Given the description of an element on the screen output the (x, y) to click on. 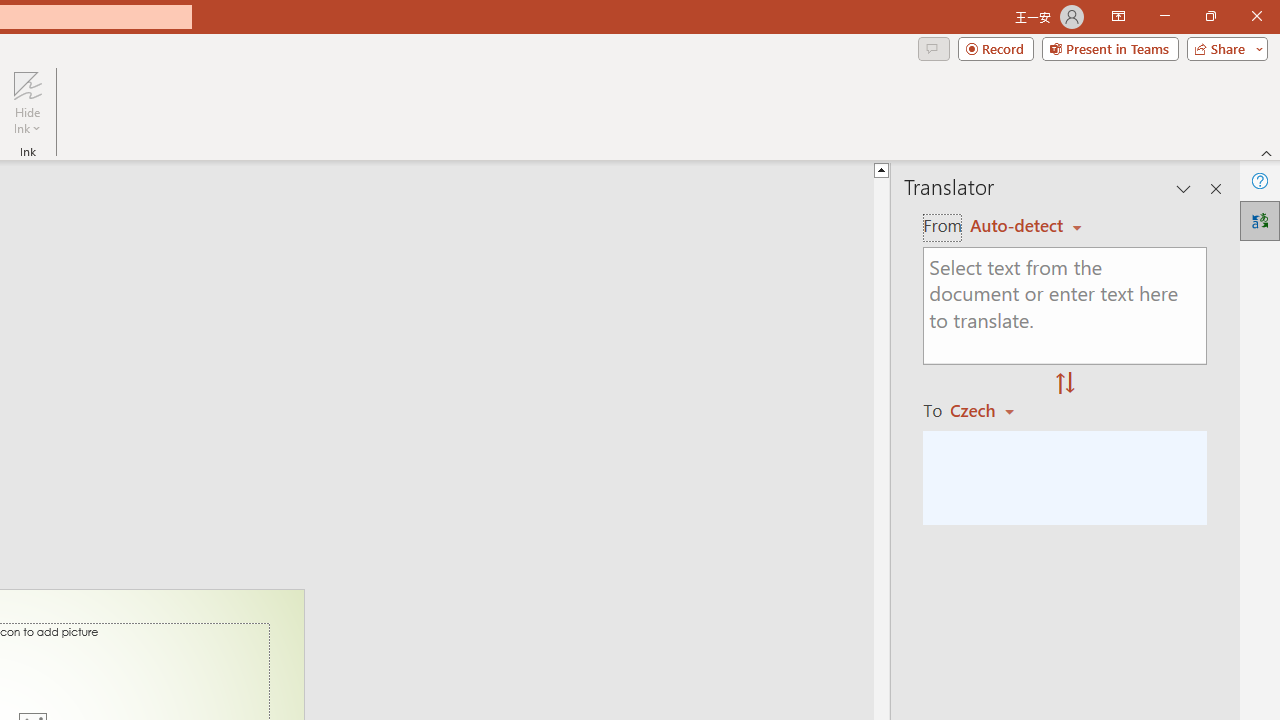
Czech (991, 409)
Hide Ink (27, 102)
English (1025, 225)
Translator (1260, 220)
